Given the description of an element on the screen output the (x, y) to click on. 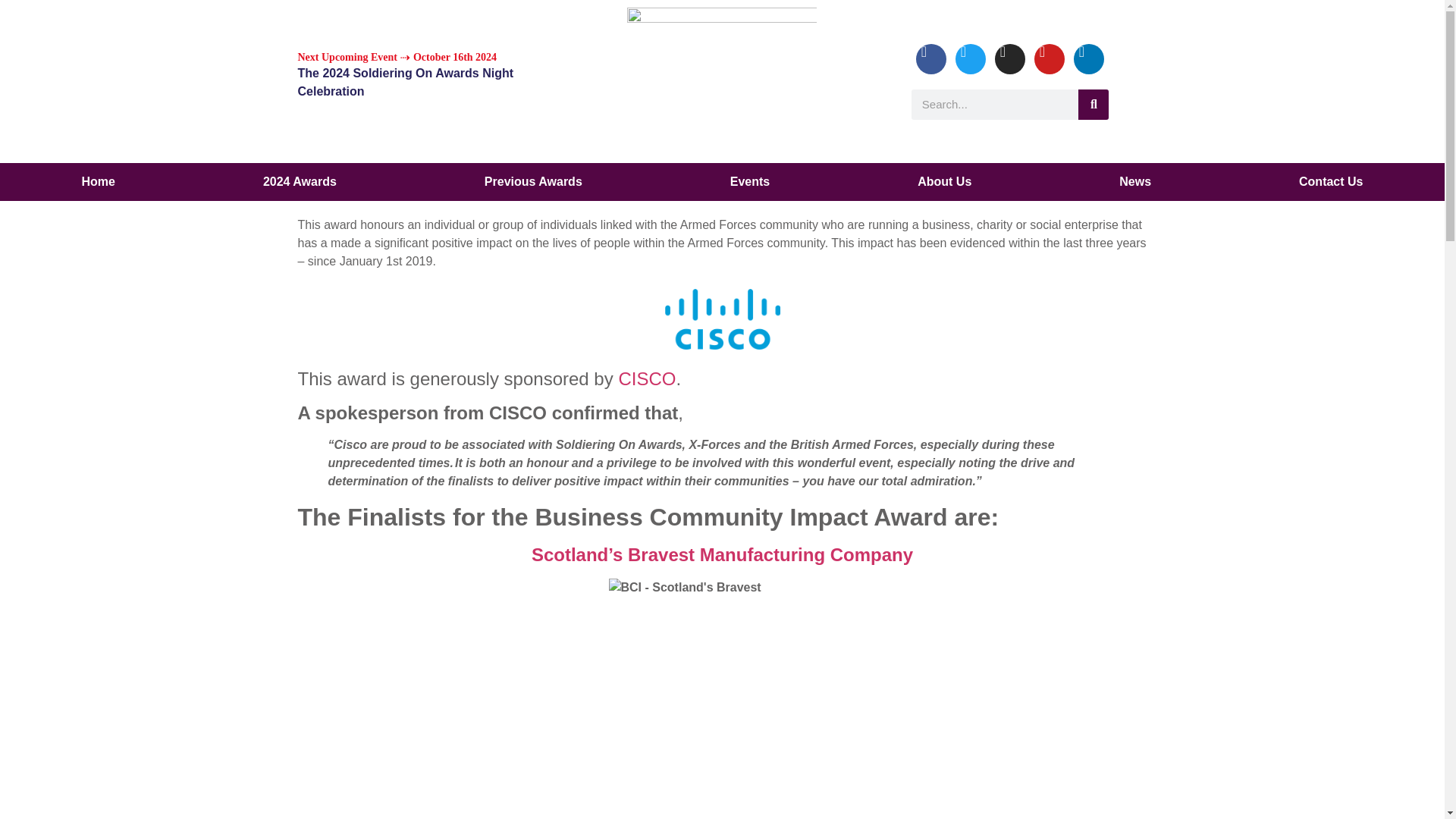
Previous Awards (533, 181)
The 2024 Soldiering On Awards Night Celebration (433, 82)
2024 Awards (299, 181)
Home (98, 181)
